Given the description of an element on the screen output the (x, y) to click on. 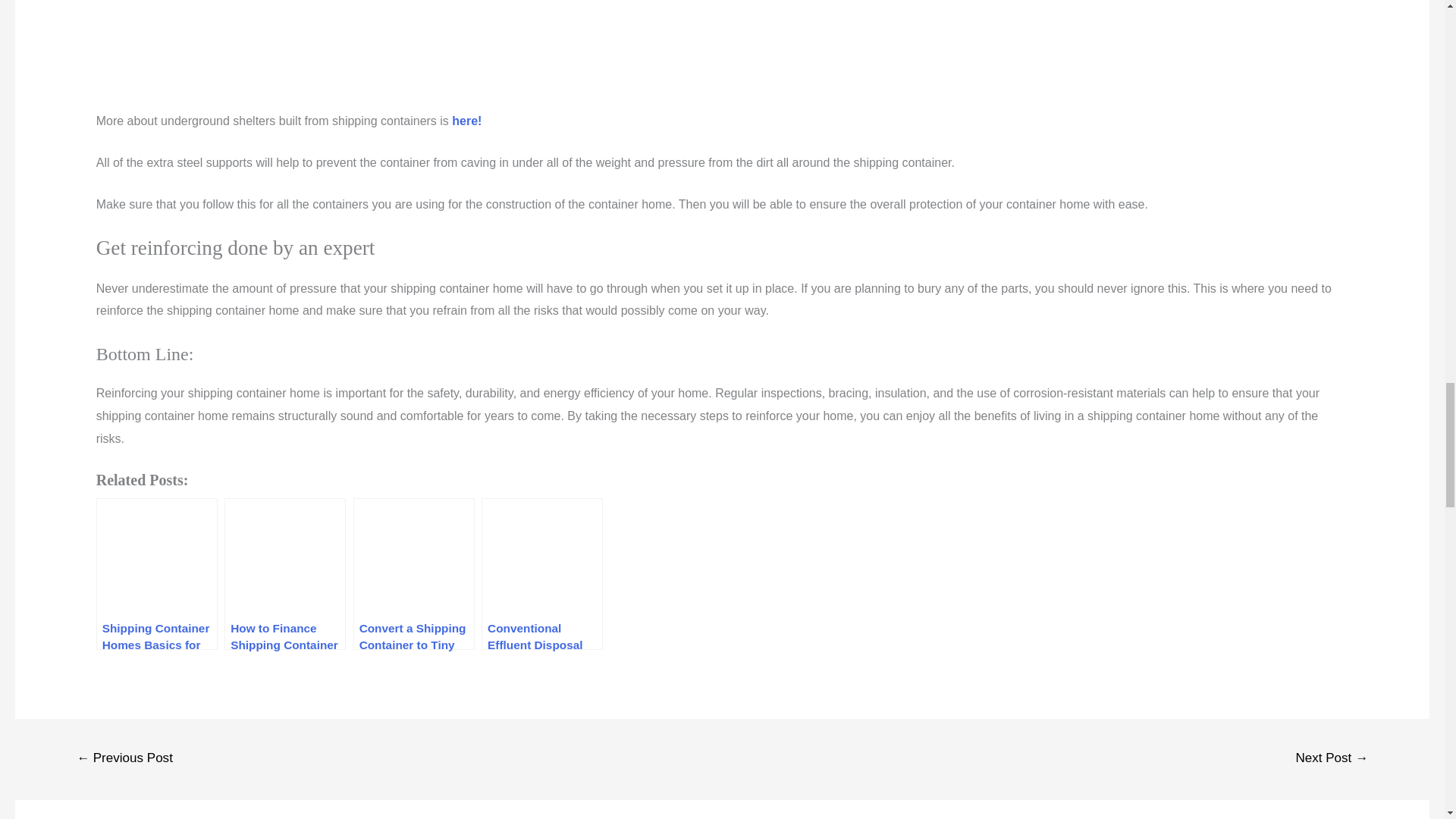
here! (464, 120)
